Given the description of an element on the screen output the (x, y) to click on. 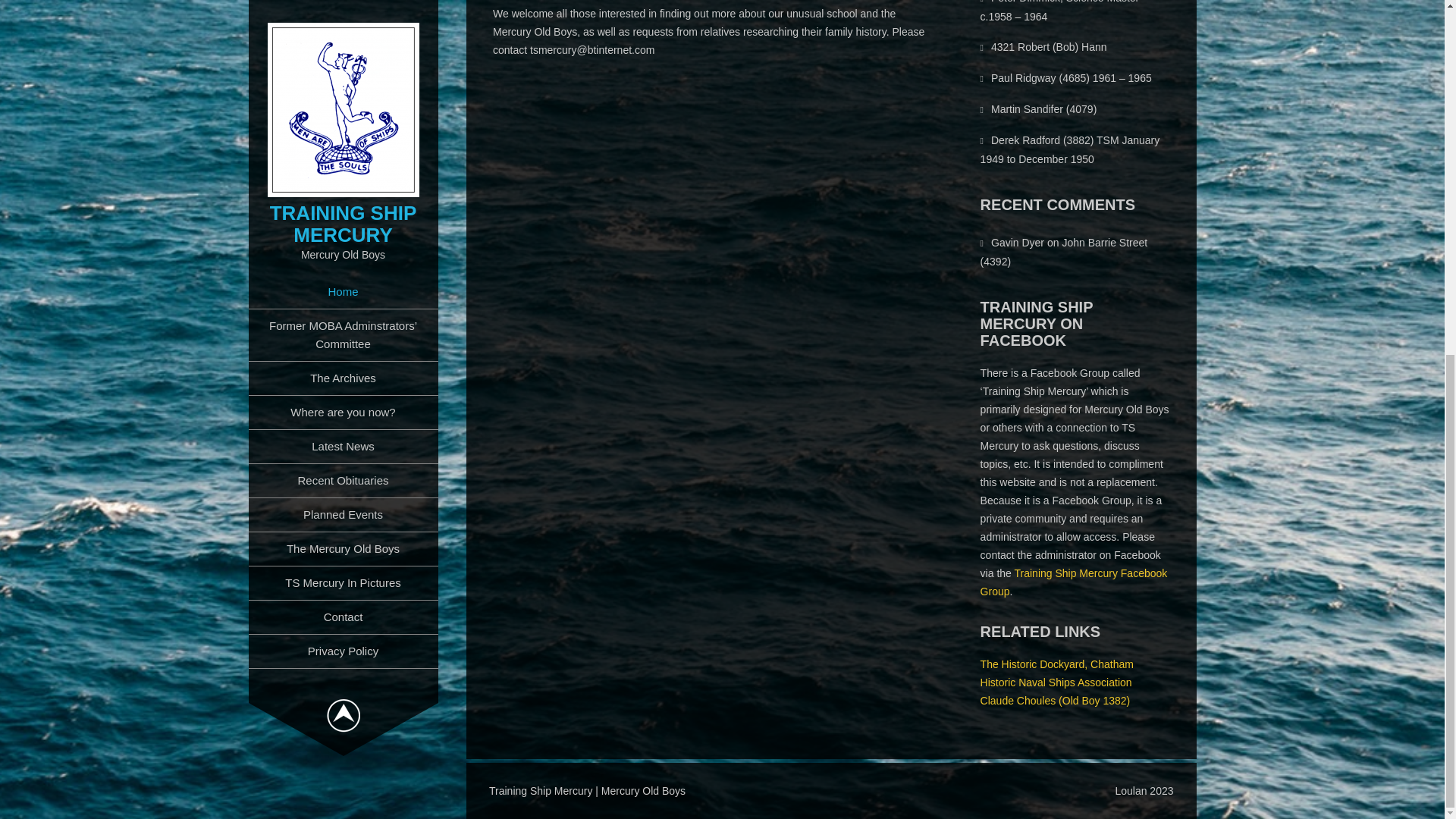
Contact (343, 6)
Privacy Policy (343, 29)
Historic Naval Ships ASsociation (1055, 682)
